Given the description of an element on the screen output the (x, y) to click on. 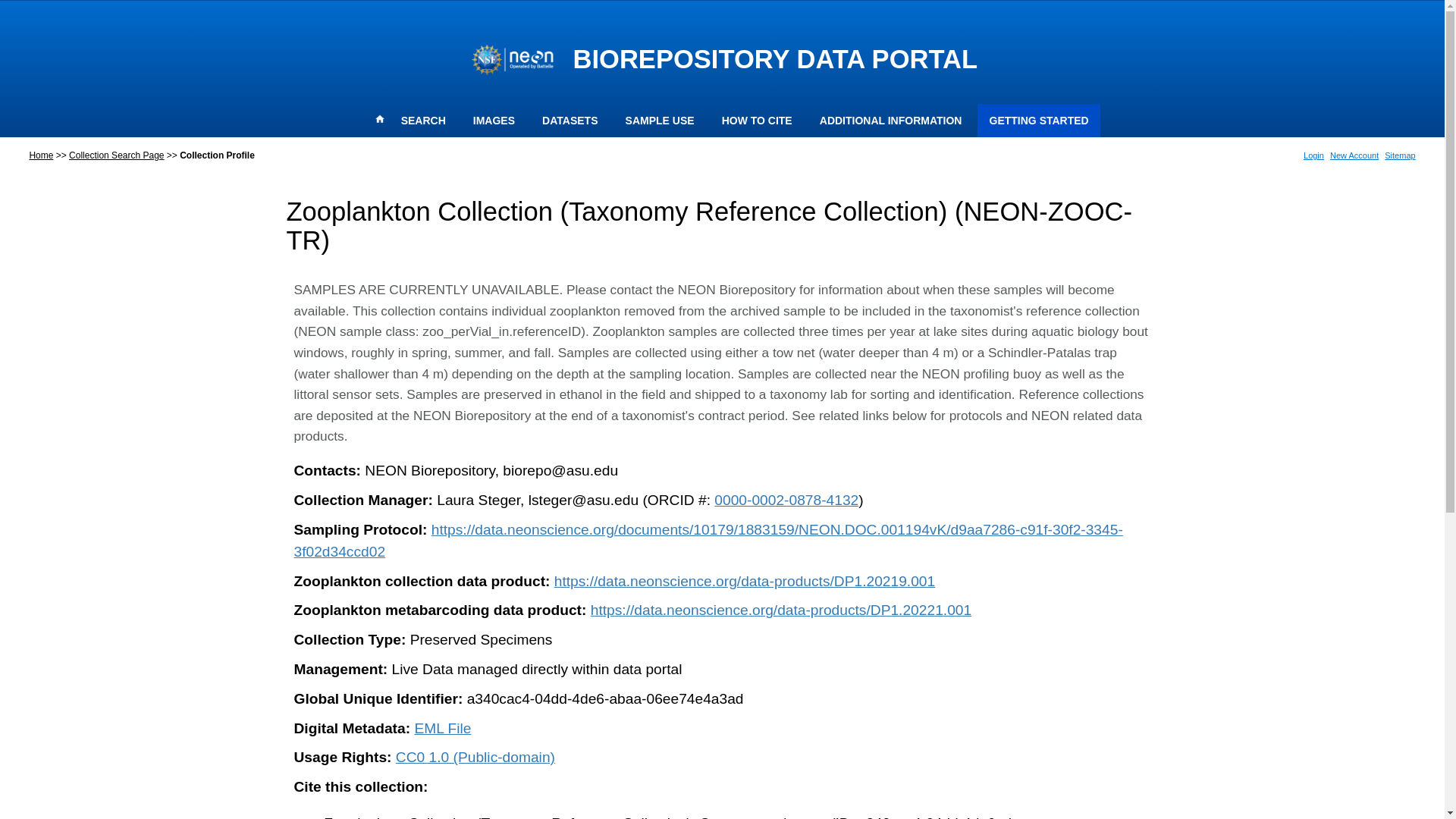
Login (1313, 154)
0000-0002-0878-4132 (786, 499)
SEARCH (422, 120)
Sitemap (1399, 154)
Home (40, 154)
IMAGES (493, 120)
SAMPLE USE (659, 120)
DATASETS (570, 120)
BIOREPOSITORY DATA PORTAL (774, 59)
HOW TO CITE (756, 120)
